Given the description of an element on the screen output the (x, y) to click on. 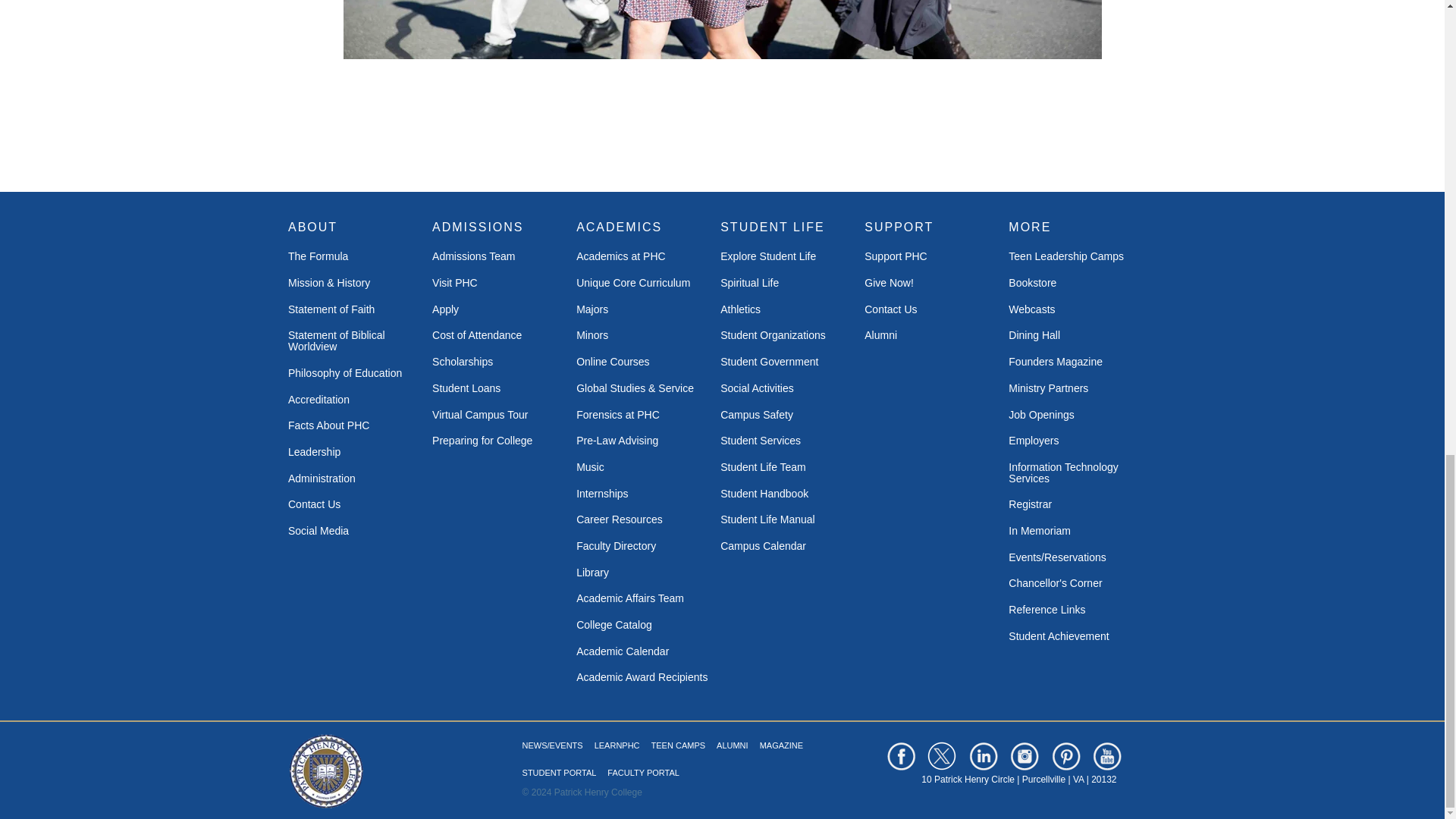
PHC Facebook (900, 756)
PatrickHenryCollege-seal (326, 771)
PHC Instagram (1024, 756)
PHC YouTube  (1107, 756)
PHC LinkedIn (983, 756)
PHC Pinterest (1066, 756)
